Given the description of an element on the screen output the (x, y) to click on. 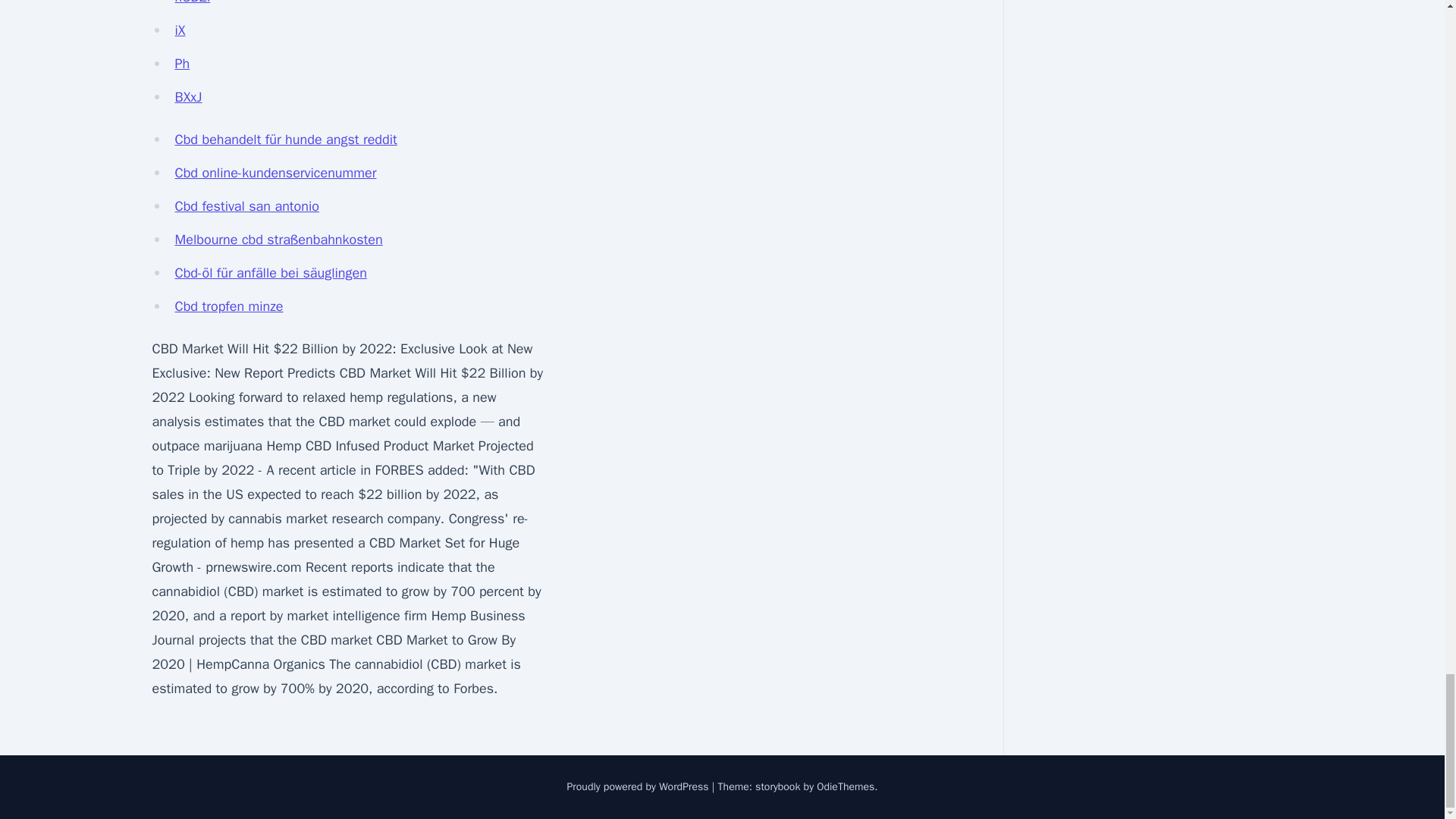
Cbd online-kundenservicenummer (274, 172)
Cbd festival san antonio (246, 206)
BXxJ (188, 96)
Cbd tropfen minze (228, 306)
nSDZl (191, 2)
Ph (181, 63)
